Given the description of an element on the screen output the (x, y) to click on. 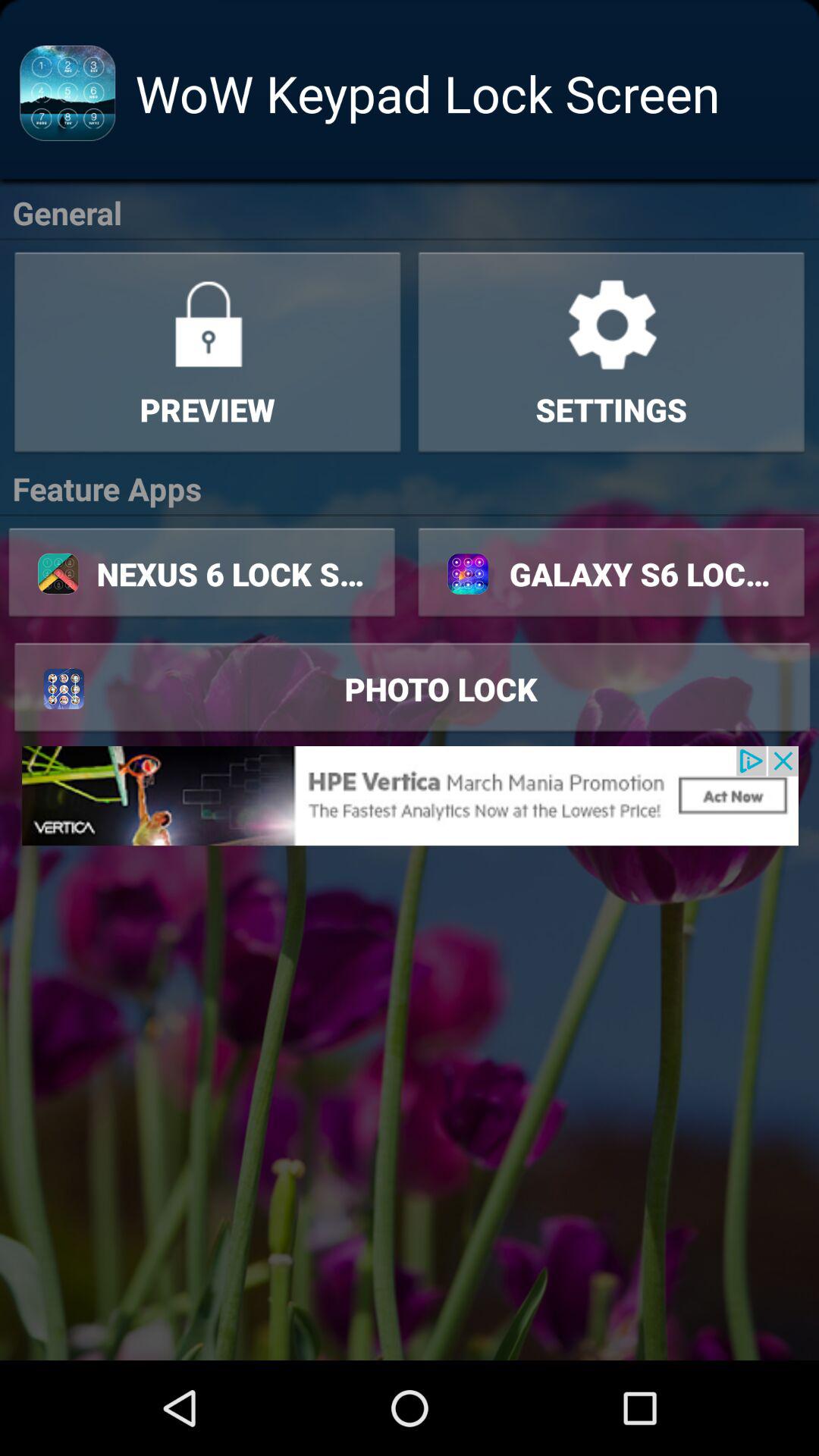
go to add (409, 795)
